Given the description of an element on the screen output the (x, y) to click on. 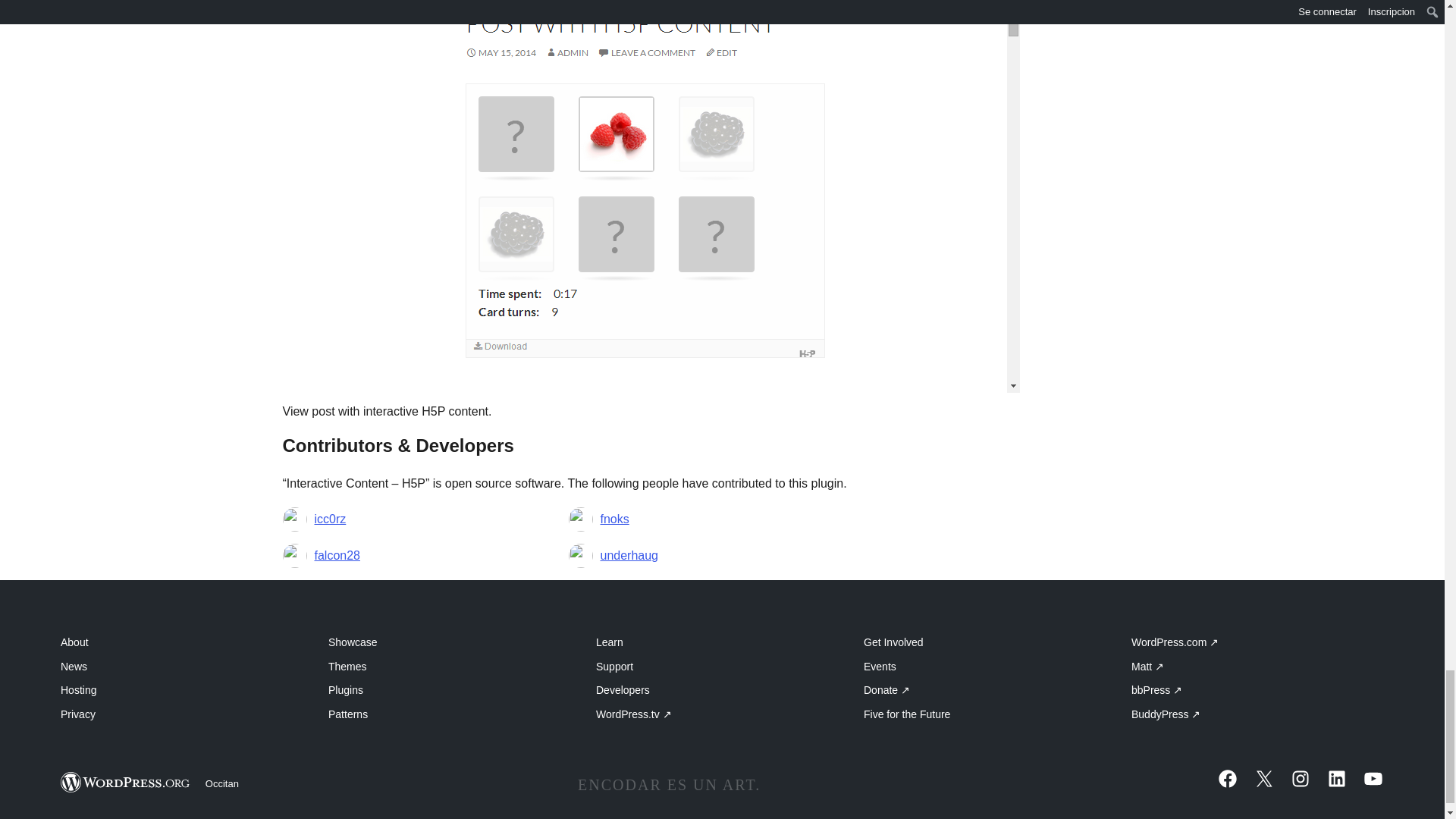
WordPress.org (125, 782)
